Given the description of an element on the screen output the (x, y) to click on. 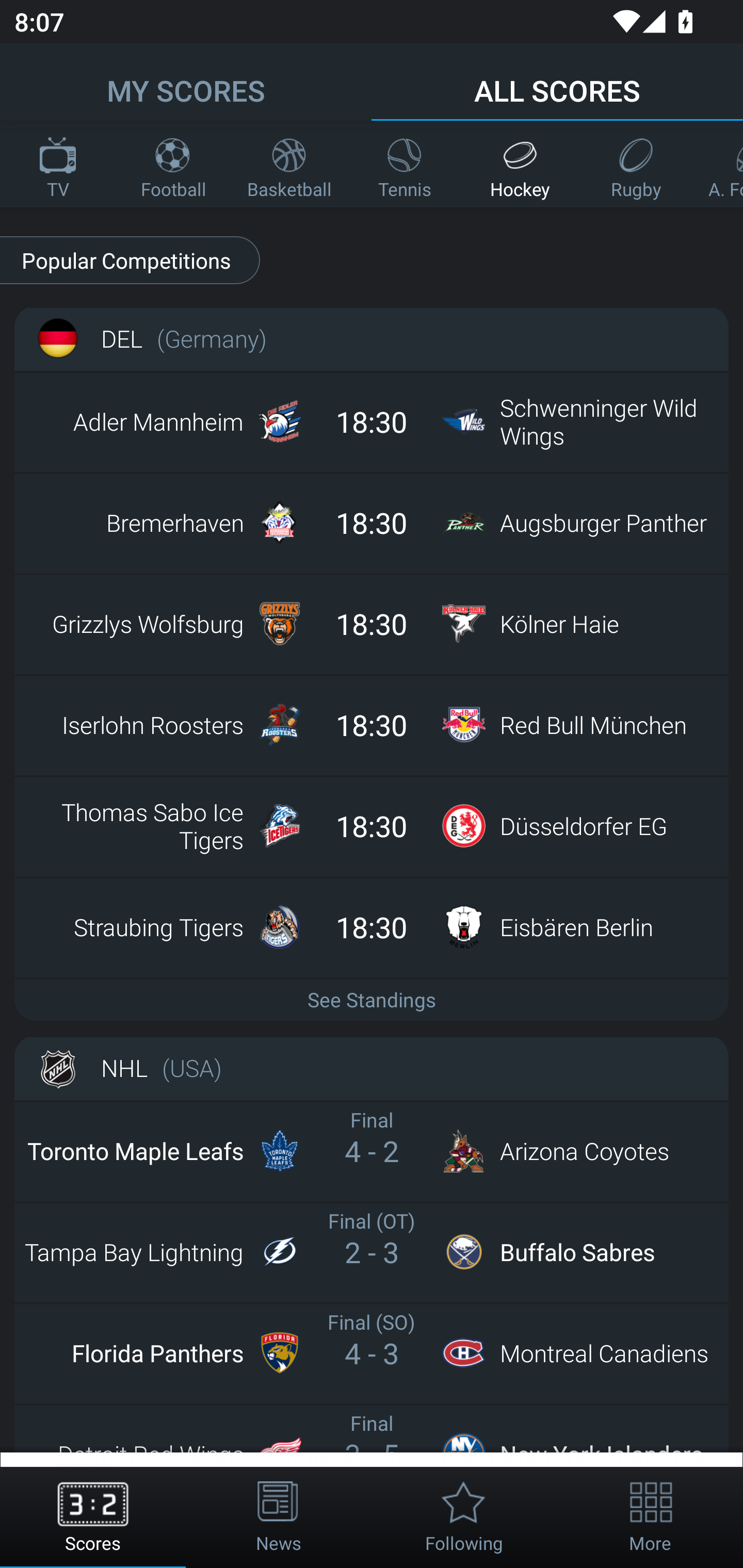
MY SCORES (185, 81)
ALL SCORES (557, 81)
TV (57, 163)
Football (173, 163)
Basketball (288, 163)
Tennis (404, 163)
Hockey (520, 163)
Rugby (635, 163)
DEL (Germany) (371, 338)
Adler Mannheim 18:30 Schwenninger Wild Wings (371, 421)
Bremerhaven 18:30 Augsburger Panther (371, 521)
Grizzlys Wolfsburg 18:30 Kölner Haie (371, 623)
Iserlohn Roosters 18:30 Red Bull München (371, 724)
Thomas Sabo Ice Tigers 18:30 Düsseldorfer EG (371, 825)
Straubing Tigers 18:30 Eisbären Berlin (371, 926)
See Standings (371, 998)
NHL (USA) (371, 1067)
Toronto Maple Leafs Final 4 - 2 Arizona Coyotes (371, 1150)
News (278, 1517)
Following (464, 1517)
More (650, 1517)
